Given the description of an element on the screen output the (x, y) to click on. 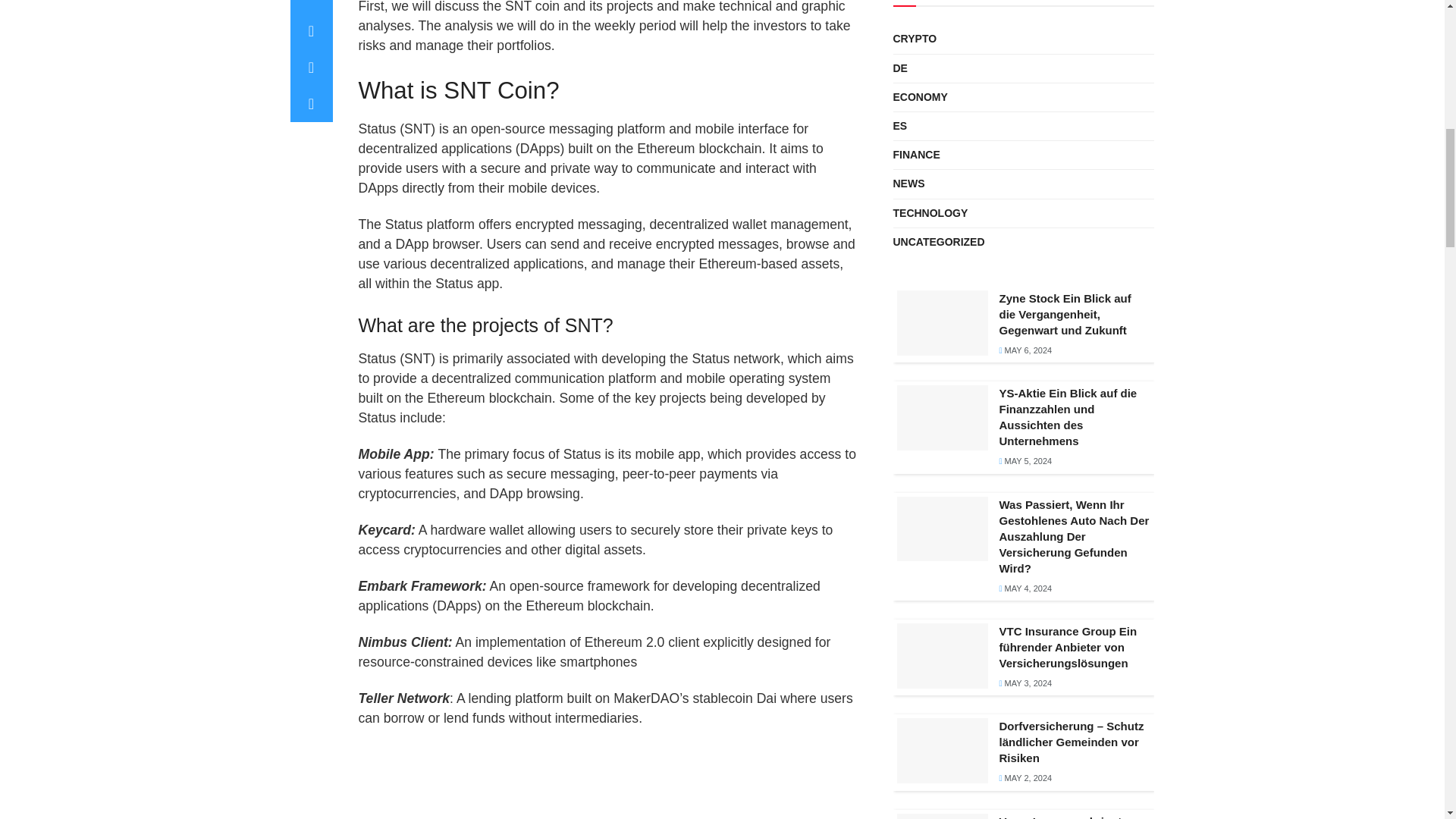
SNT-Coin-Weekly-Analysis-And-Price-Prediction- - 724 Feed (608, 781)
